Given the description of an element on the screen output the (x, y) to click on. 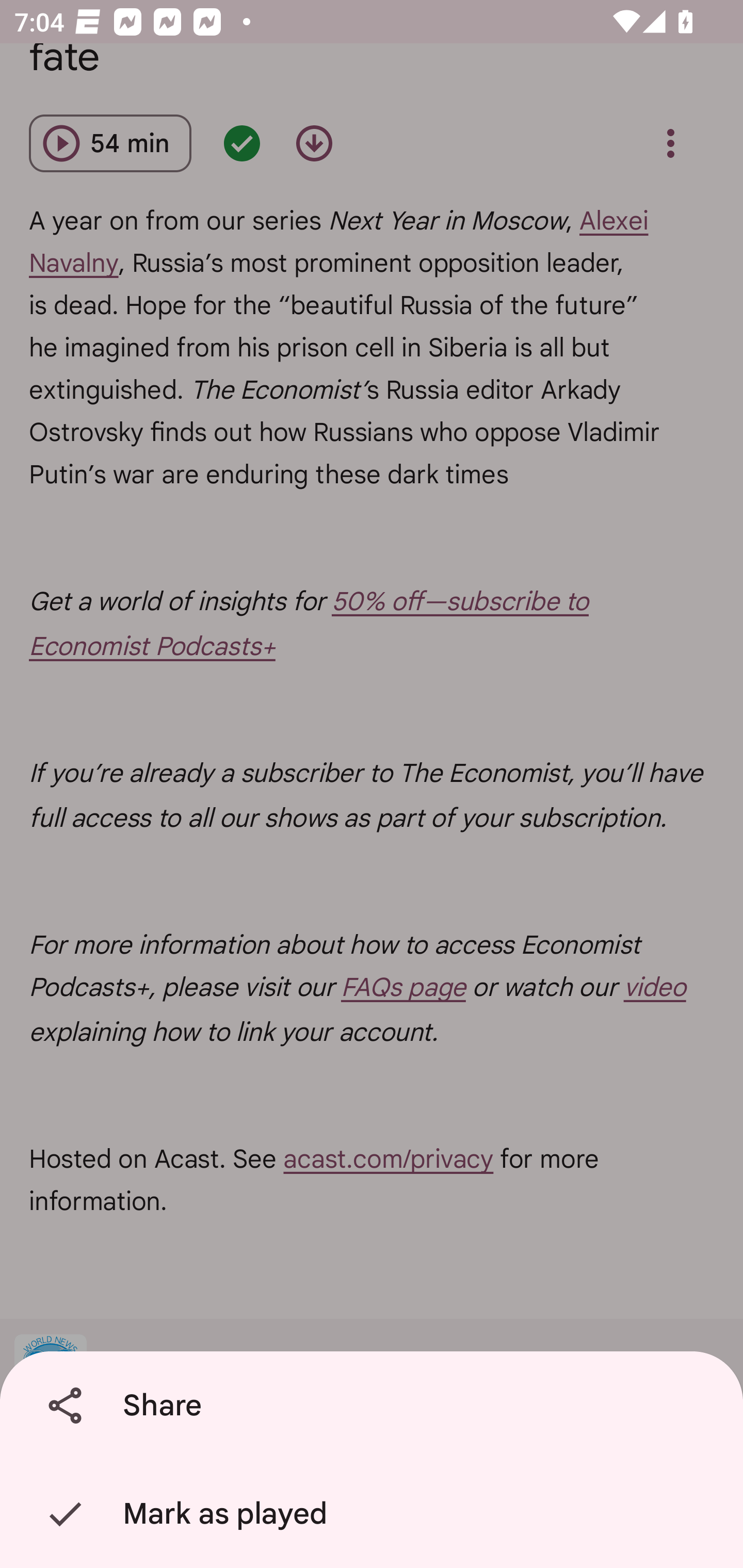
Share (375, 1405)
Mark as played (375, 1513)
